Given the description of an element on the screen output the (x, y) to click on. 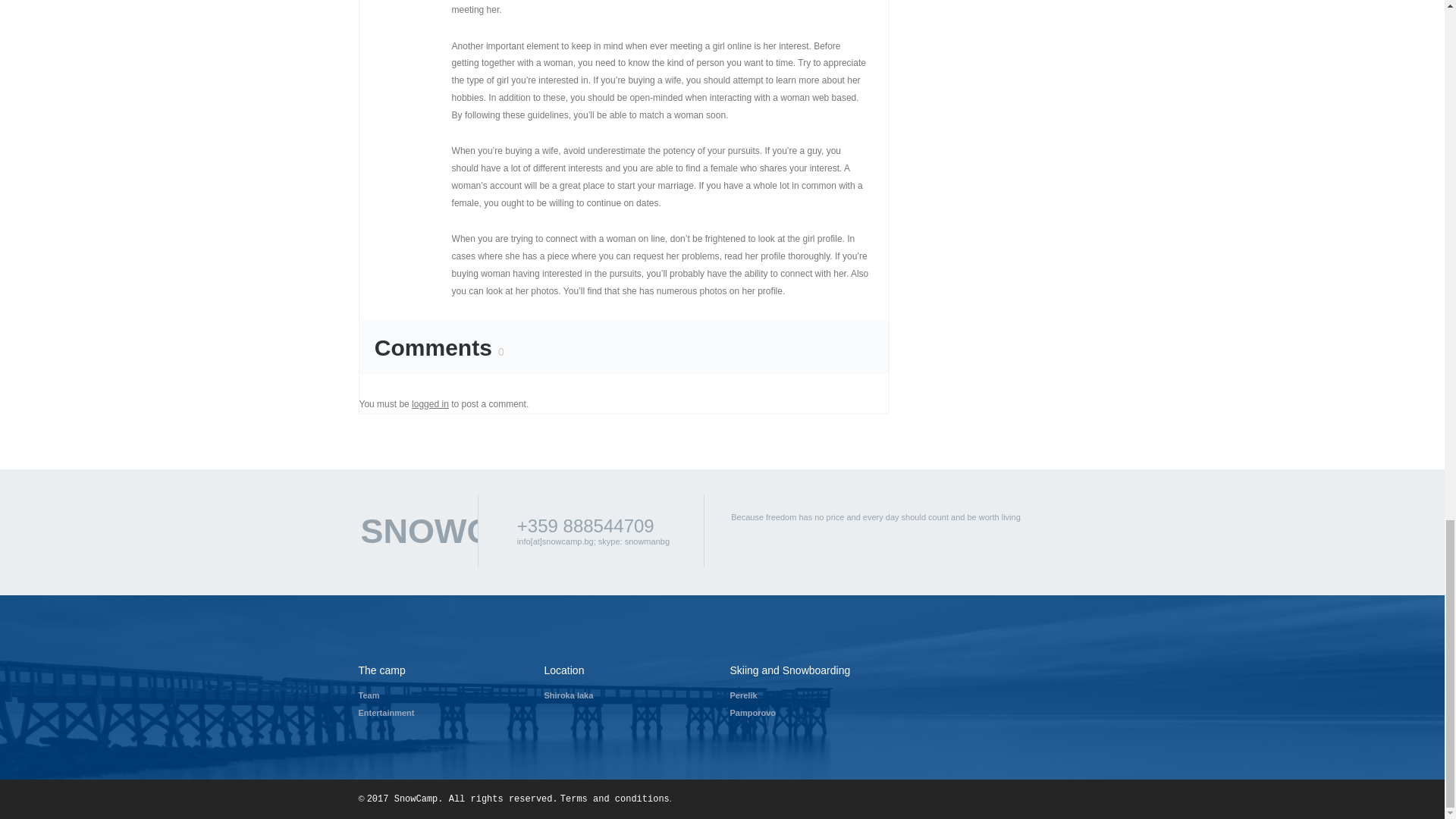
Terms and conditions (614, 798)
